Given the description of an element on the screen output the (x, y) to click on. 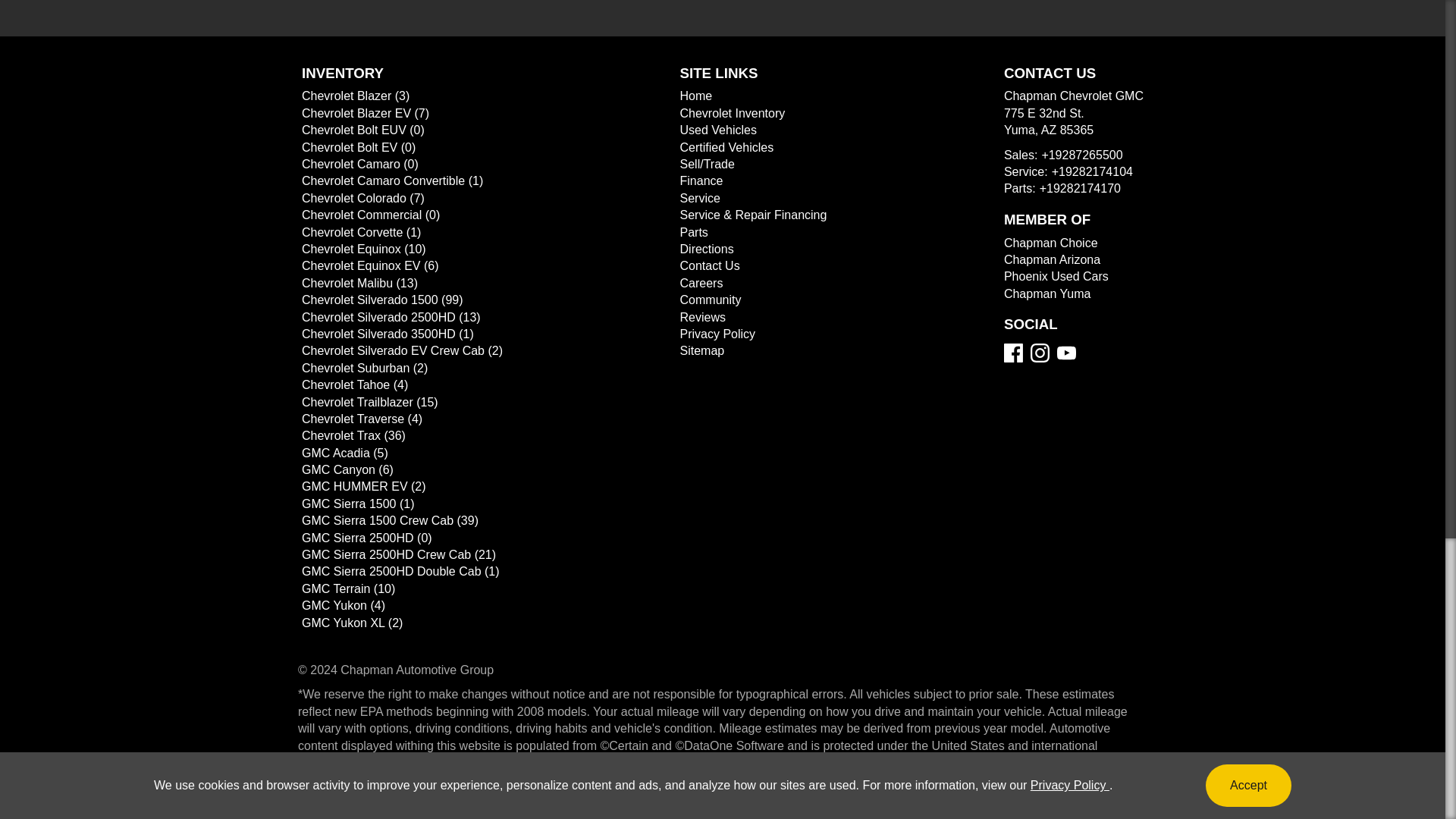
YouTube (1066, 352)
Instagram (1039, 352)
Facebook (1013, 352)
